Given the description of an element on the screen output the (x, y) to click on. 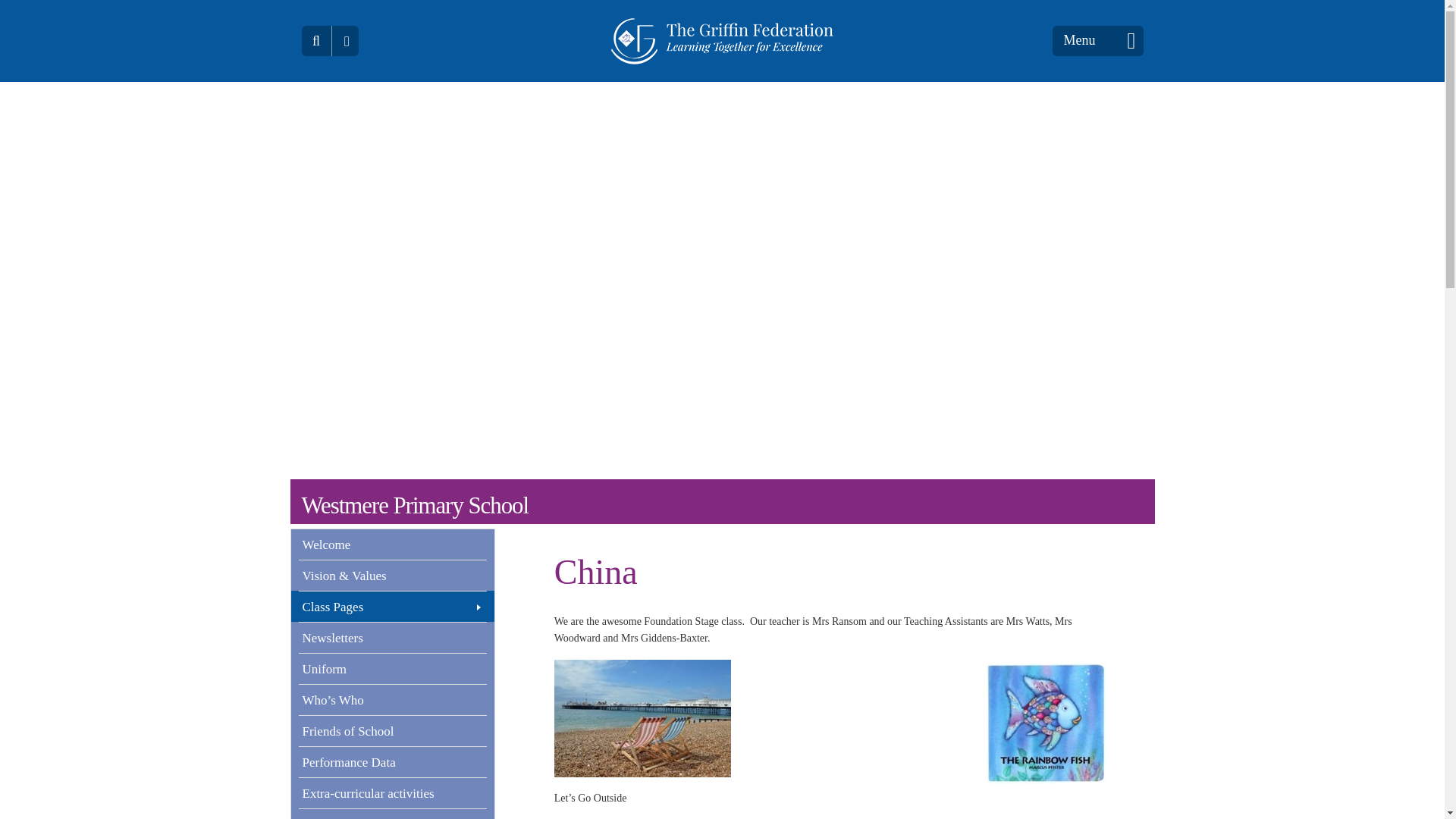
Performance Data (392, 762)
Uniform (392, 668)
Friends of School (392, 730)
The Griffin Federation - Learning Together for Excellence (721, 40)
Newsletters (392, 637)
Welcome (392, 544)
Contact (392, 813)
Menu (1097, 40)
Extra-curricular activities (392, 793)
